Given the description of an element on the screen output the (x, y) to click on. 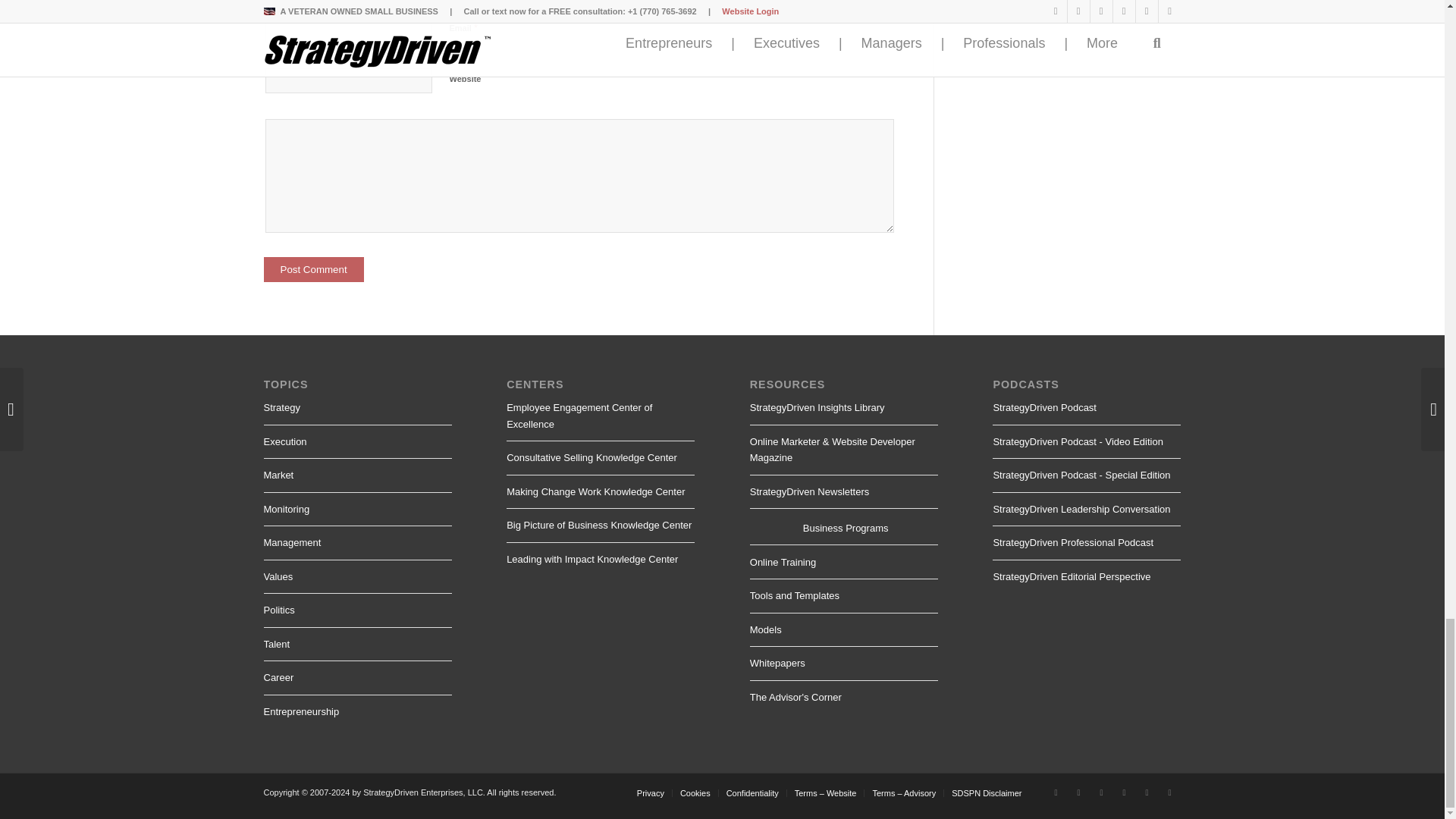
Post Comment (313, 269)
